Given the description of an element on the screen output the (x, y) to click on. 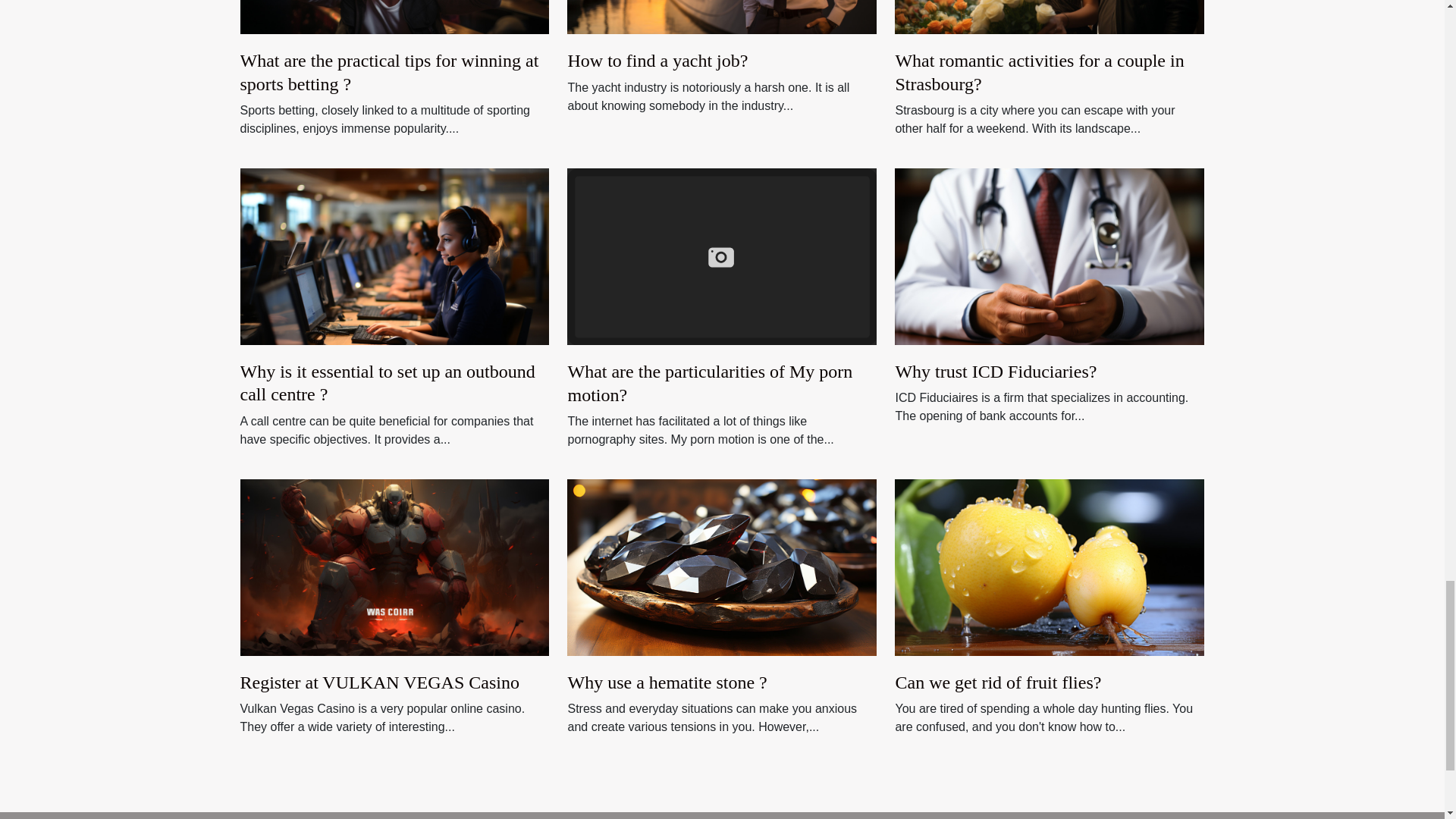
How to find a yacht job? (657, 60)
Why is it essential to set up an outbound call centre ? (387, 382)
Why is it essential to set up an outbound call centre ? (387, 382)
What are the particularities of My porn motion? (709, 382)
What romantic activities for a couple in Strasbourg? (1039, 71)
What are the particularities of My porn motion? (721, 255)
Why trust ICD Fiduciaries? (995, 371)
Register at VULKAN VEGAS Casino (379, 682)
What are the practical tips for winning at sports betting ? (389, 71)
Why is it essential to set up an outbound call centre ? (394, 255)
What are the practical tips for winning at sports betting ? (389, 71)
What romantic activities for a couple in Strasbourg? (1039, 71)
How to find a yacht job? (657, 60)
